Given the description of an element on the screen output the (x, y) to click on. 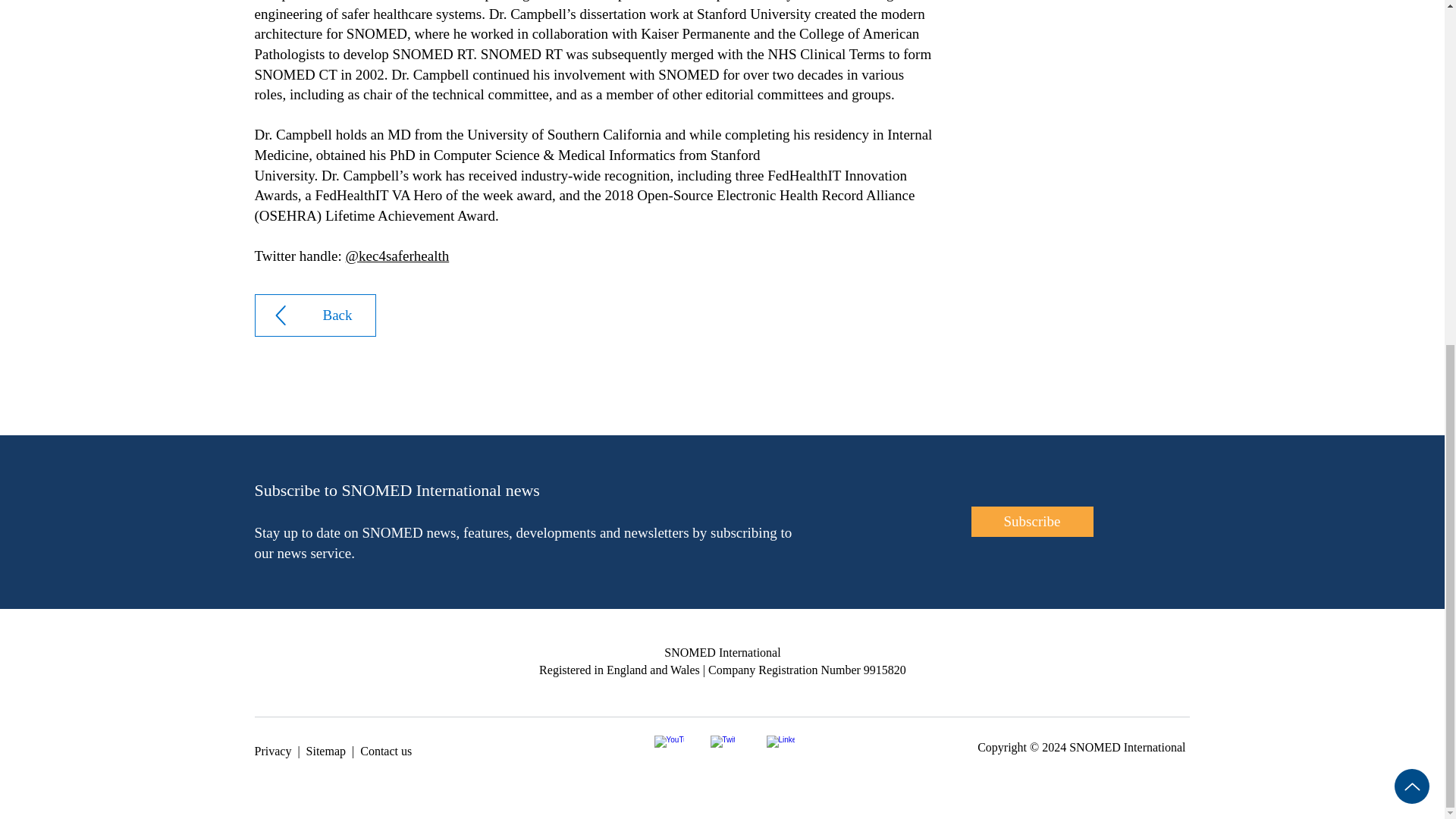
Subscribe (1032, 521)
Back (314, 315)
Privacy (273, 750)
Sitemap (325, 750)
Contact us (385, 750)
